Given the description of an element on the screen output the (x, y) to click on. 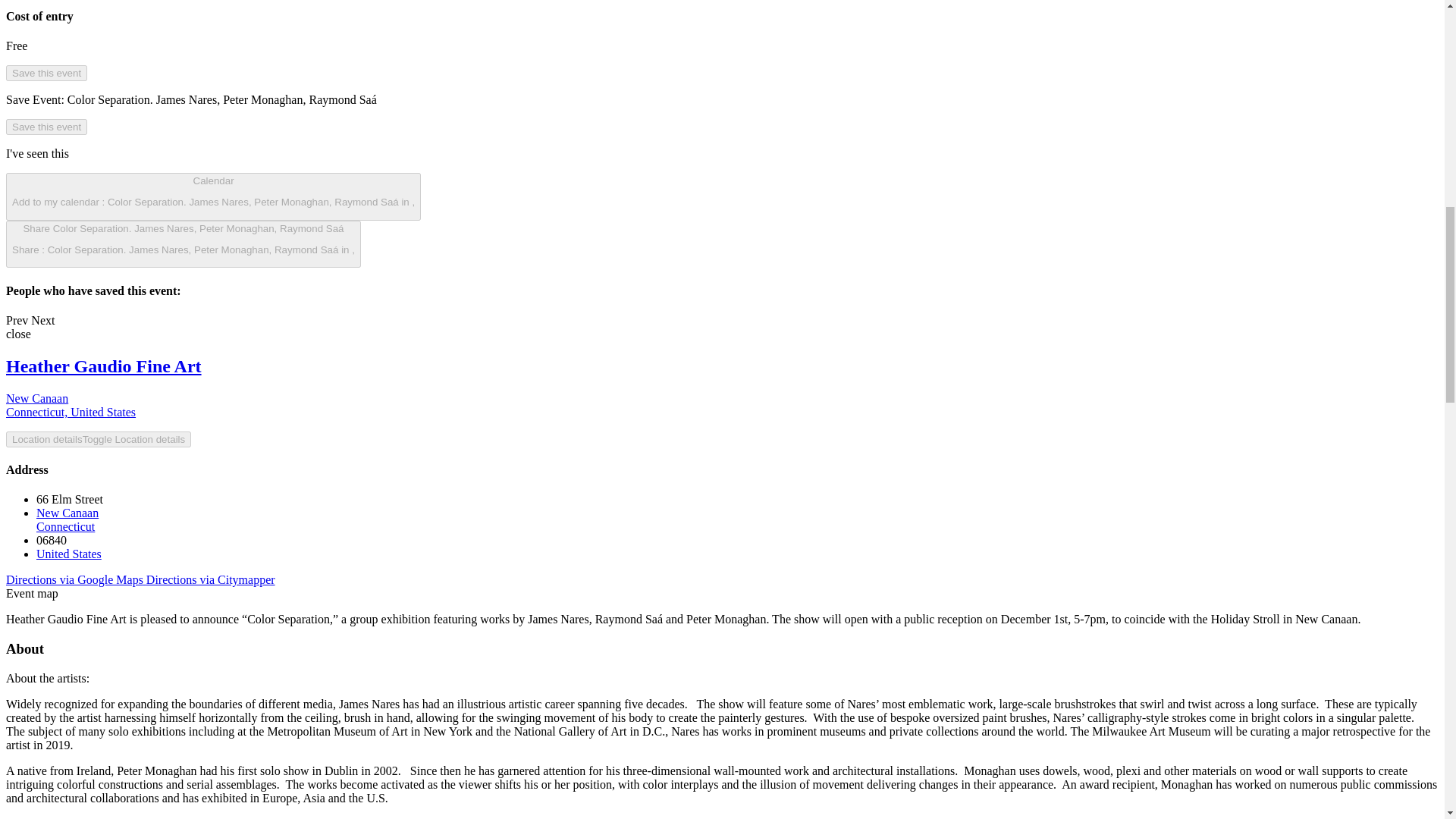
Next (42, 319)
Save this event (46, 73)
Heather Gaudio Fine Art (103, 365)
Save this event (46, 126)
United States (70, 405)
Prev (68, 553)
Directions via Citymapper (16, 319)
Location detailsToggle Location details (67, 519)
